Given the description of an element on the screen output the (x, y) to click on. 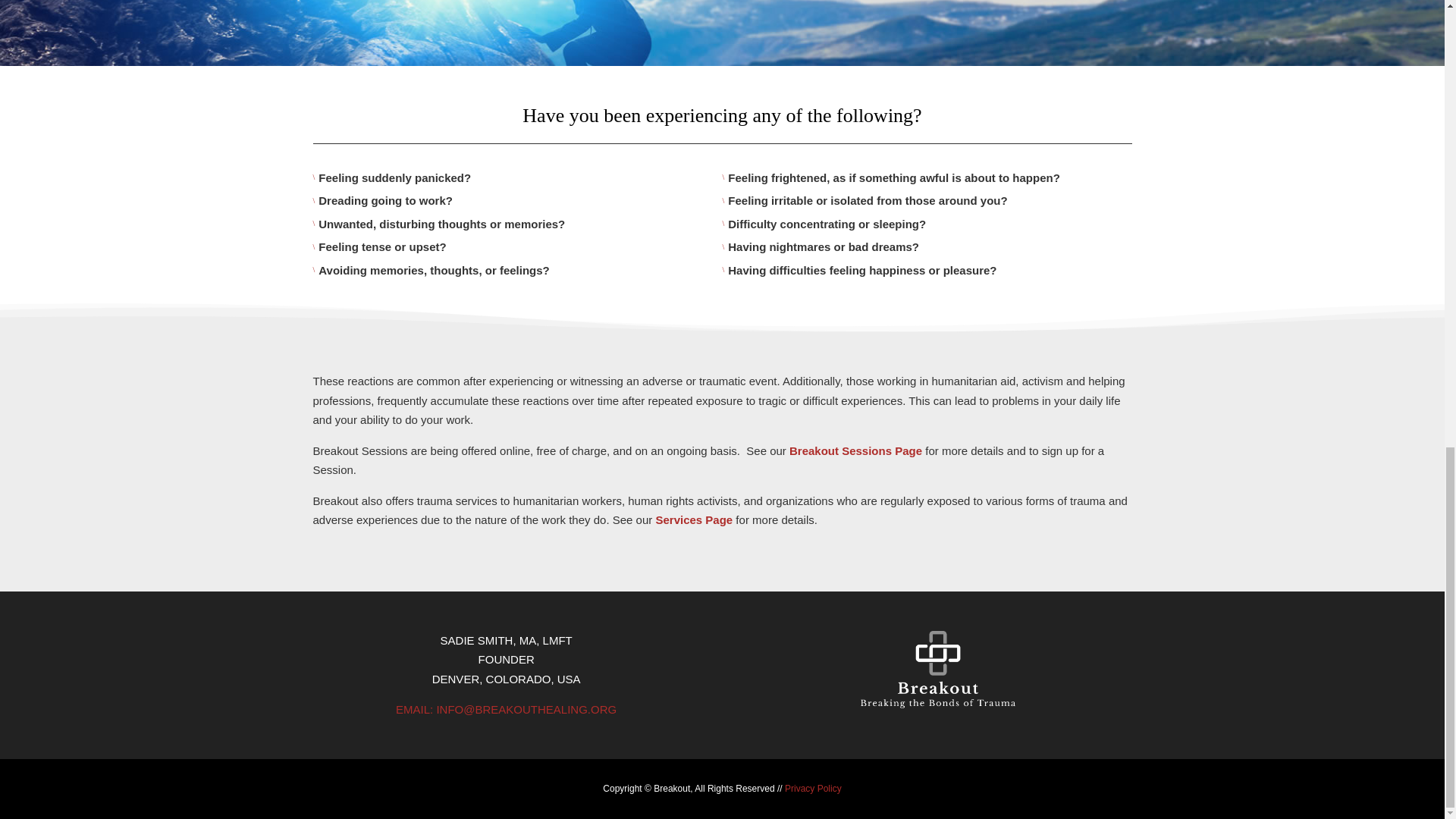
Breakout Sessions Page (855, 450)
Privacy Policy (812, 787)
Breakout-Stacked-W-Logo (937, 669)
Services Page (693, 519)
